Given the description of an element on the screen output the (x, y) to click on. 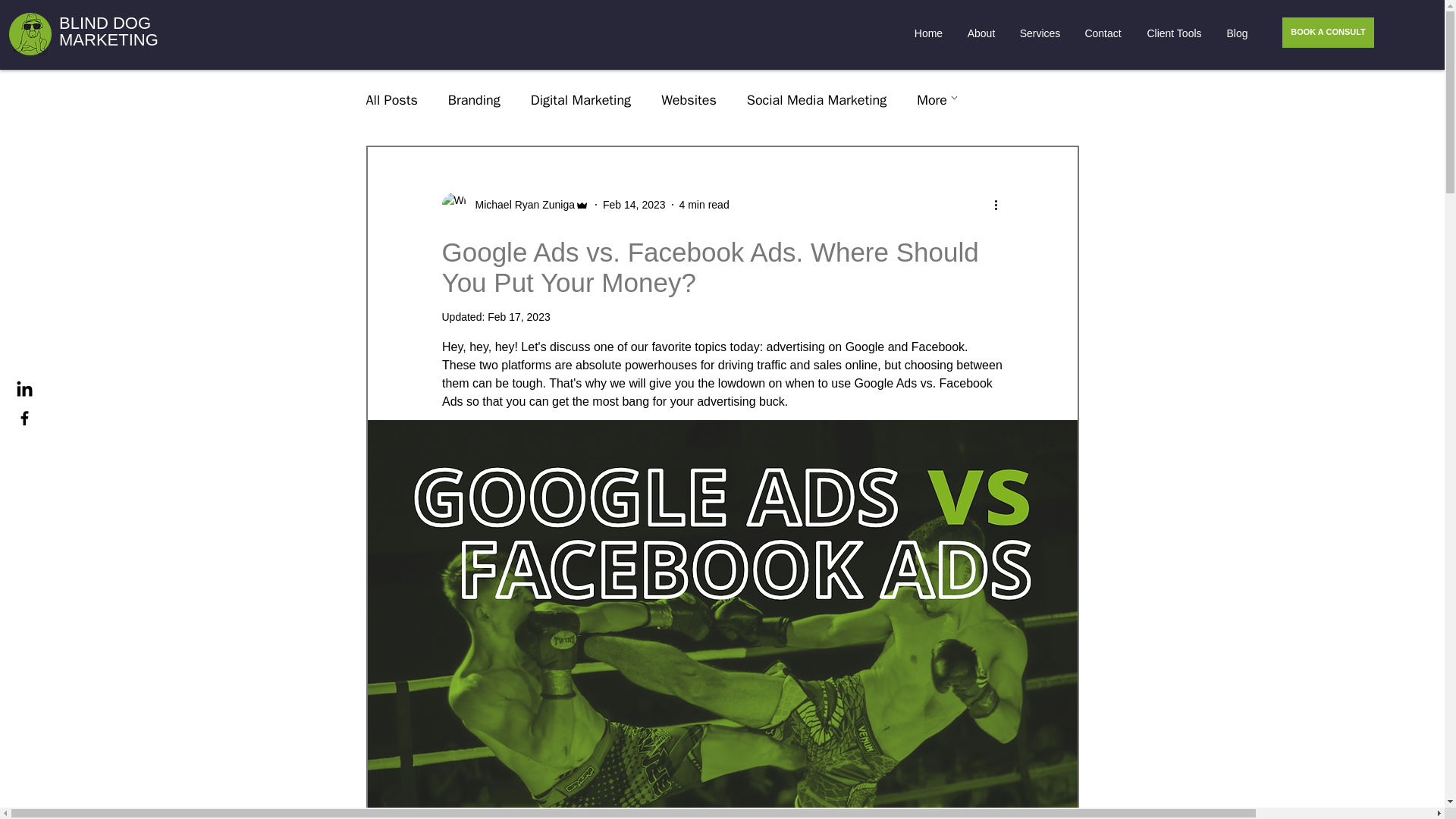
Services (1039, 33)
Blog (1236, 33)
Feb 14, 2023 (633, 204)
Contact (1102, 33)
All Posts (390, 99)
4 min read (704, 204)
Websites (688, 99)
BOOK A CONSULT (1328, 32)
Social Media Marketing (816, 99)
Michael Ryan Zuniga (520, 204)
